Given the description of an element on the screen output the (x, y) to click on. 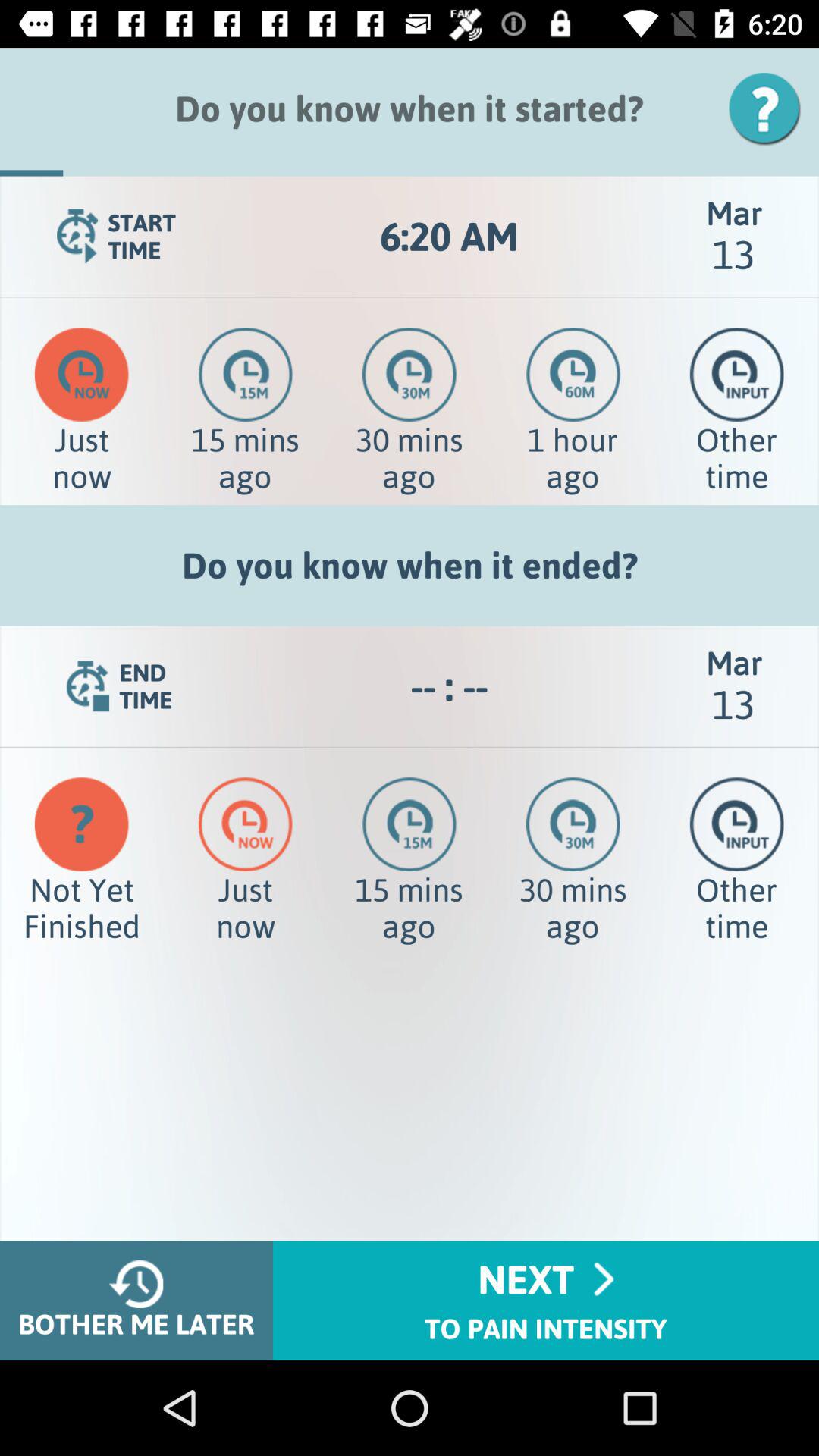
click the 6:20 am app (448, 236)
